Given the description of an element on the screen output the (x, y) to click on. 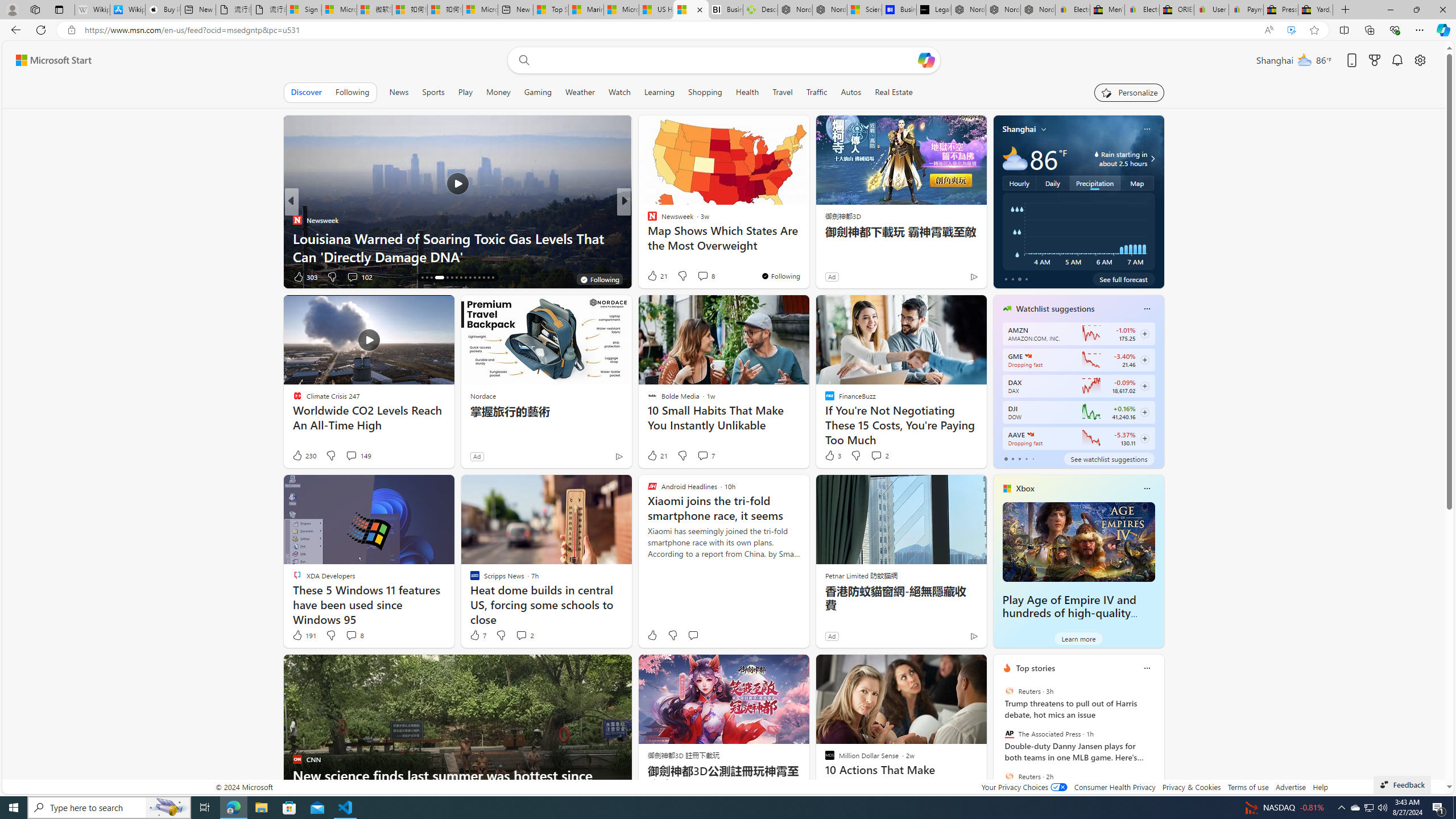
View comments 157 Comment (709, 276)
next (1158, 741)
89 Like (652, 276)
257 Like (654, 276)
Rain starting in about 2.5 hours (1150, 158)
Shanghai (1018, 128)
Live Science (647, 238)
Like (652, 634)
